Given the description of an element on the screen output the (x, y) to click on. 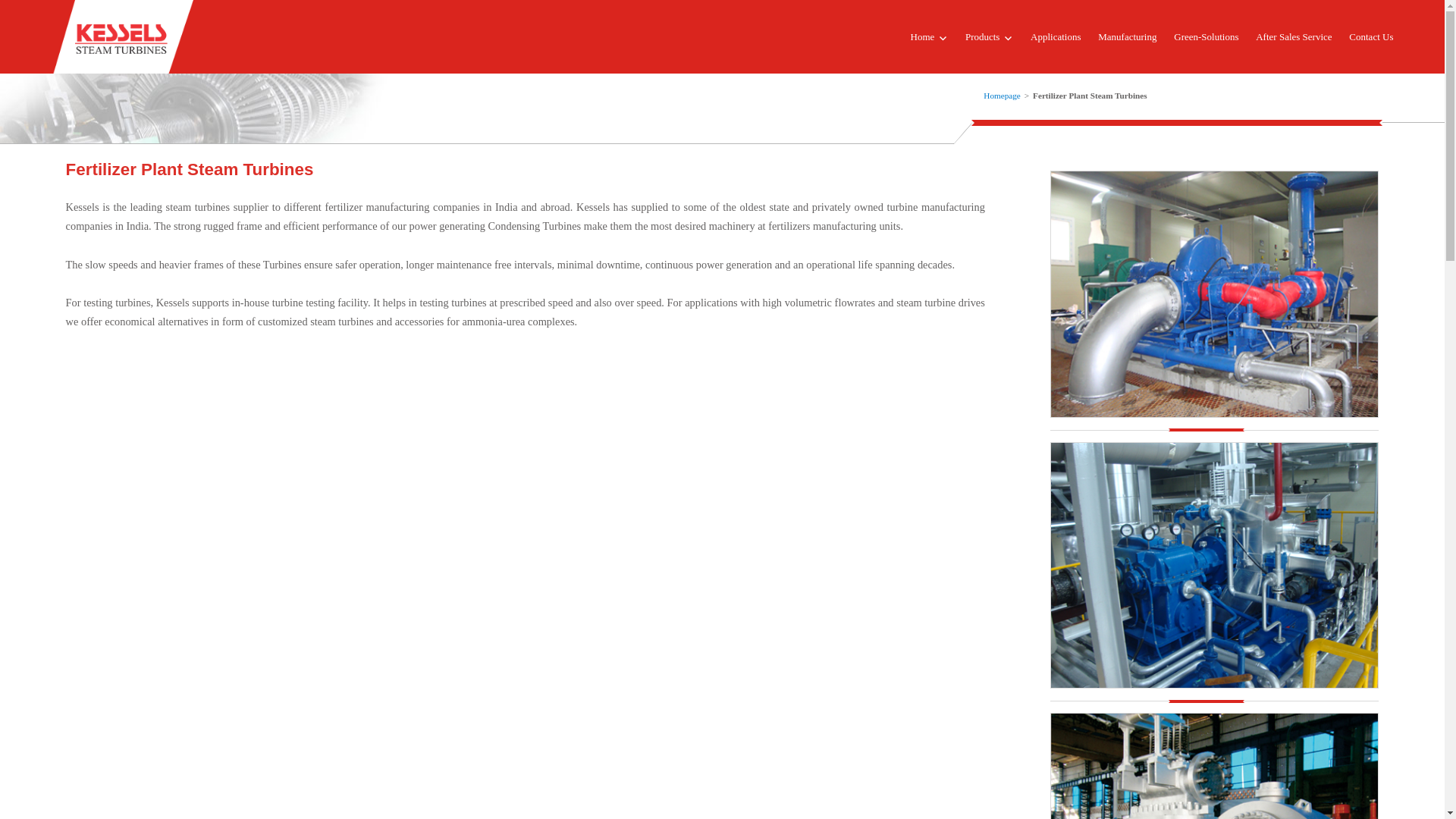
Homepage (1002, 94)
After Sales Service (1293, 36)
Homepage (1002, 94)
Green-Solutions (1206, 36)
Manufacturing (1127, 36)
Applications (1055, 36)
